Given the description of an element on the screen output the (x, y) to click on. 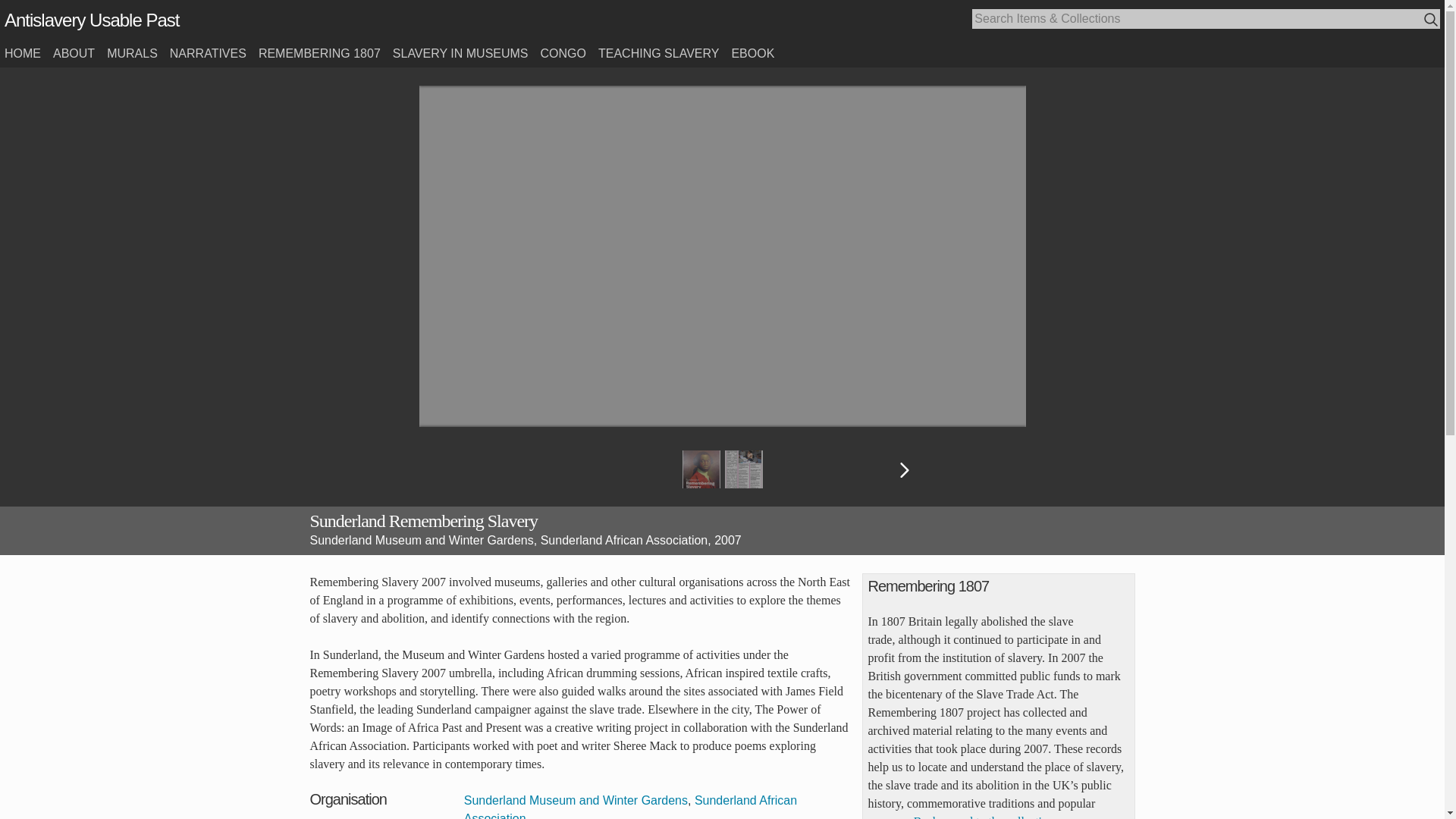
Search (1431, 19)
Sunderland Museum and Winter Gardens (575, 799)
TEACHING SLAVERY (658, 52)
ABOUT (73, 52)
SLAVERY IN MUSEUMS (460, 52)
NARRATIVES (208, 52)
Sunderland African Association (630, 806)
Search (1431, 19)
CONGO (563, 52)
Antislavery Usable Past (91, 19)
2007 Remembering Slavery Sunderland brochure.pdf (701, 469)
Scroll right (903, 469)
Search (1430, 19)
REMEMBERING 1807 (319, 52)
HOME (22, 52)
